Given the description of an element on the screen output the (x, y) to click on. 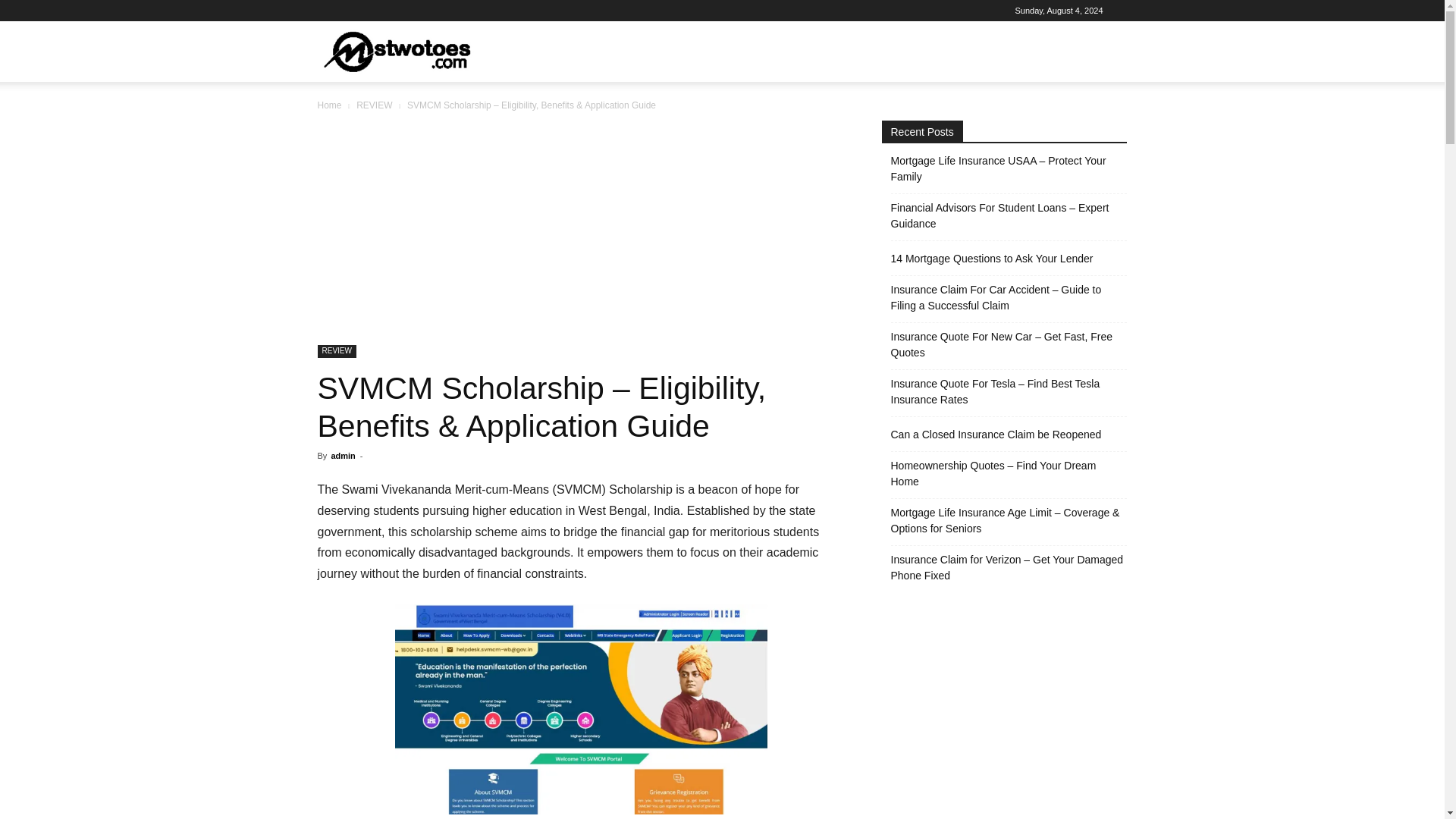
View all posts in REVIEW (373, 104)
Mstwotoes (395, 51)
REVIEW (373, 104)
Search (1085, 124)
PRIVACY POLICY (924, 51)
FINANCE (759, 51)
admin (342, 455)
Home (328, 104)
ABOUT US (831, 51)
REVIEW (336, 350)
HOW TO (601, 51)
INSURANCES (679, 51)
REVIEW (537, 51)
